Given the description of an element on the screen output the (x, y) to click on. 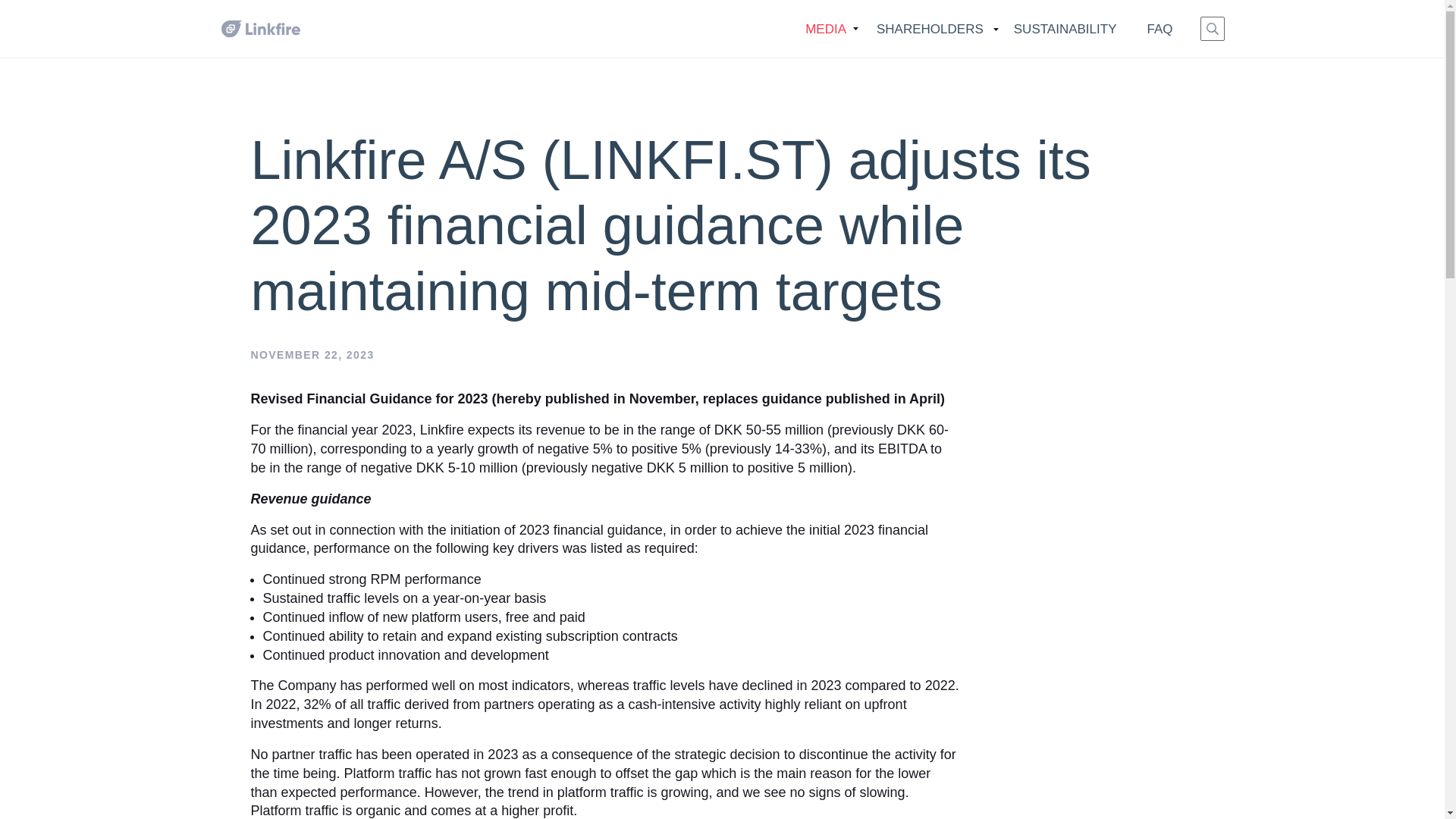
MEDIA (825, 35)
SUSTAINABILITY (1065, 35)
SHAREHOLDERS (929, 35)
SEARCH (1211, 28)
FAQ (1159, 35)
